Given the description of an element on the screen output the (x, y) to click on. 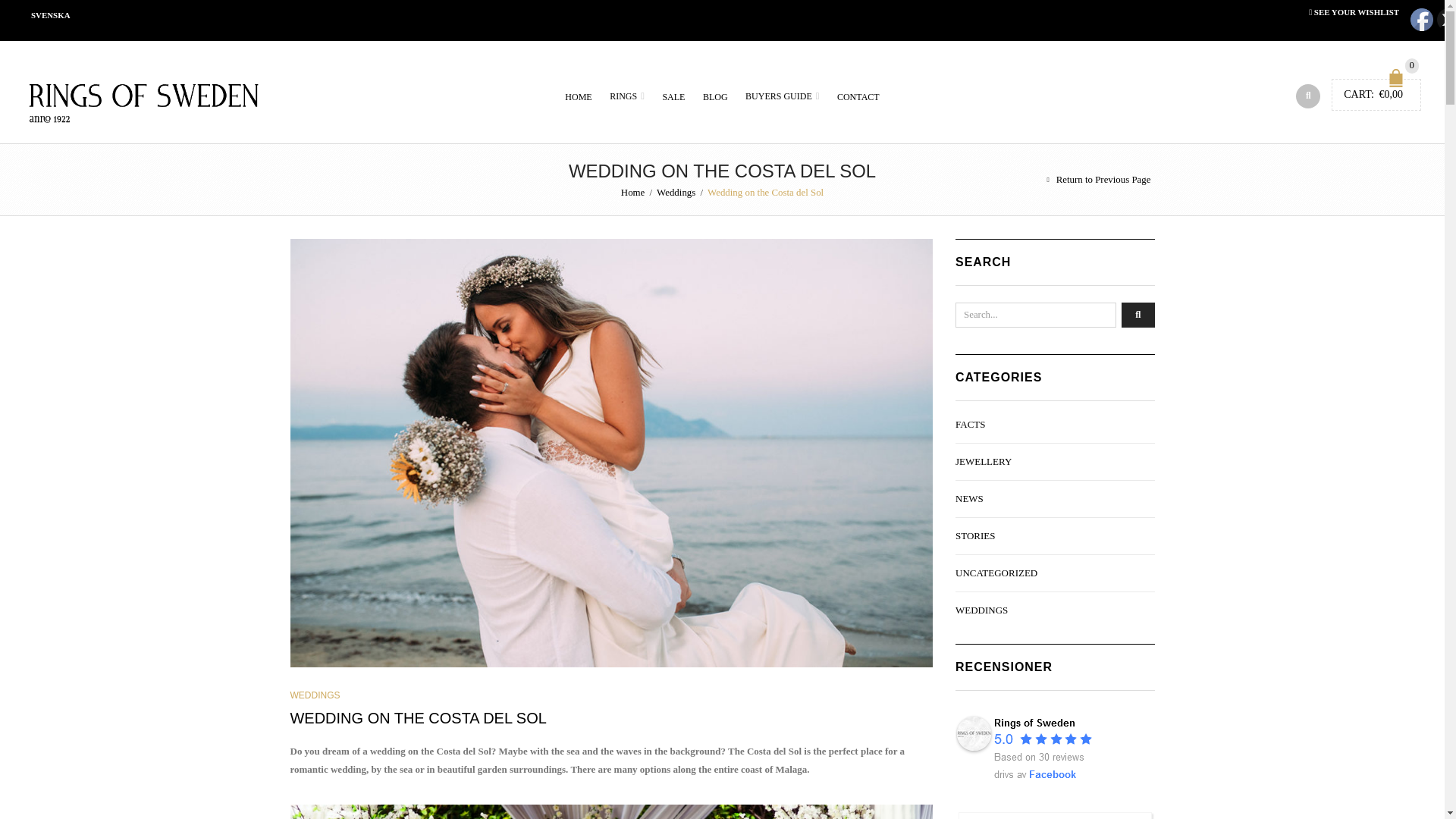
SVENSKA (50, 14)
RINGS (627, 96)
MR MRS (611, 811)
SEE YOUR WISHLIST (1353, 11)
HOME (577, 97)
Facebook (1421, 19)
